Given the description of an element on the screen output the (x, y) to click on. 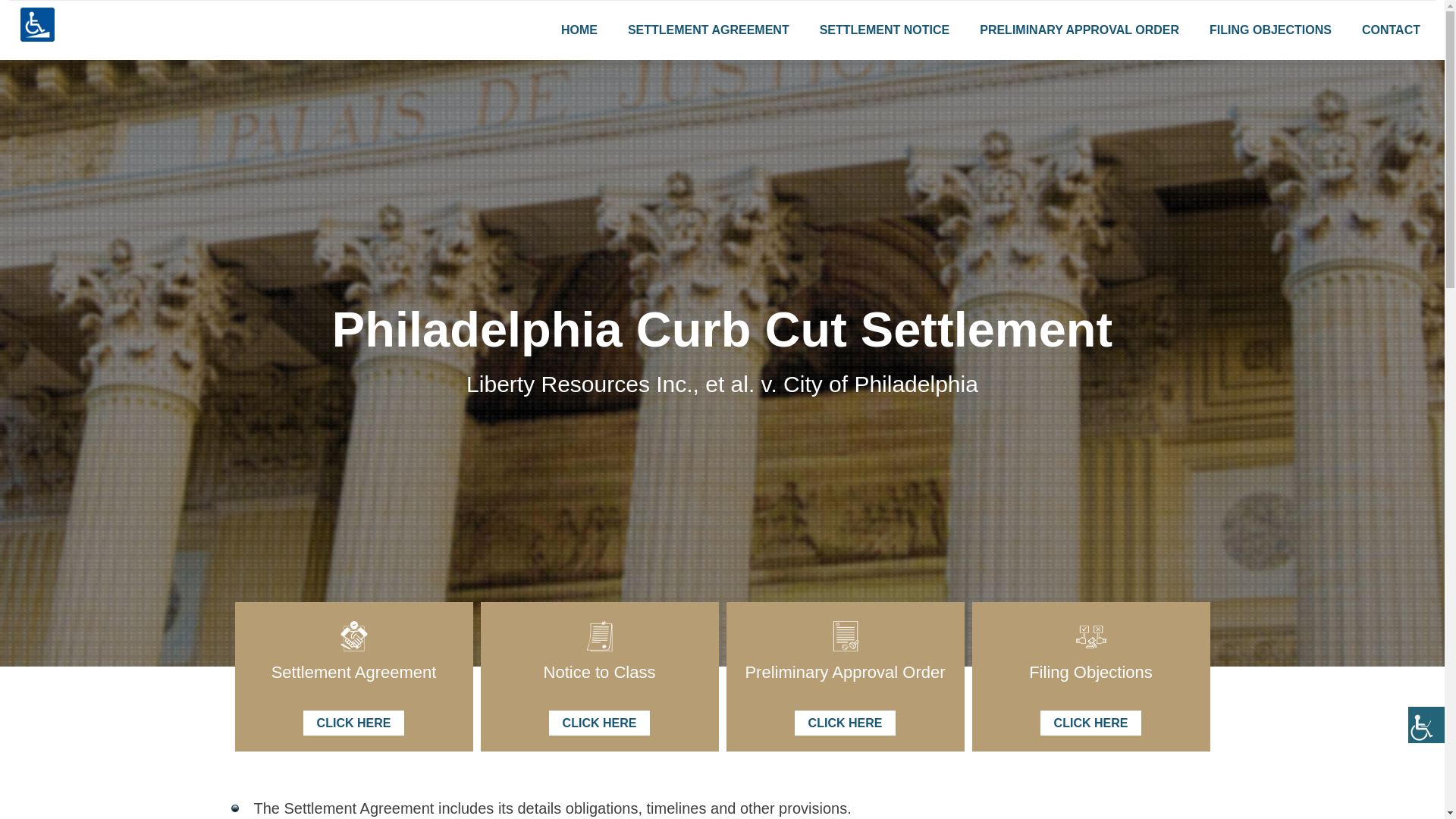
CLICK HERE (353, 722)
SETTLEMENT NOTICE (885, 29)
CONTACT (1390, 29)
HOME (579, 29)
CLICK HERE (1091, 722)
CLICK HERE (599, 722)
CLICK HERE (845, 722)
PRELIMINARY APPROVAL ORDER (1078, 29)
Philly Curb Cut Settlement (37, 101)
SETTLEMENT AGREEMENT (708, 29)
FILING OBJECTIONS (1269, 29)
Skip To Footer (16, 47)
